Given the description of an element on the screen output the (x, y) to click on. 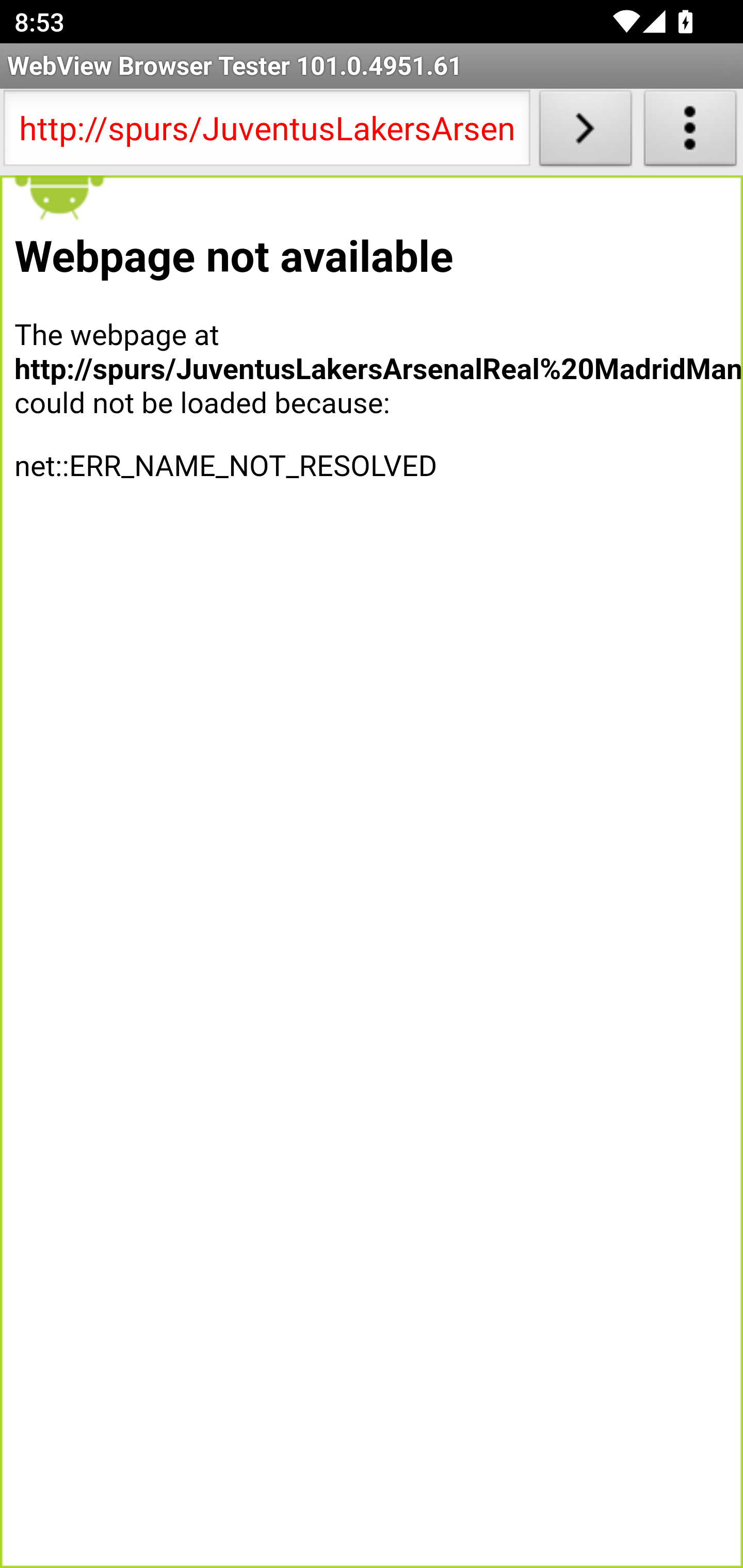
Load URL (585, 132)
About WebView (690, 132)
